Given the description of an element on the screen output the (x, y) to click on. 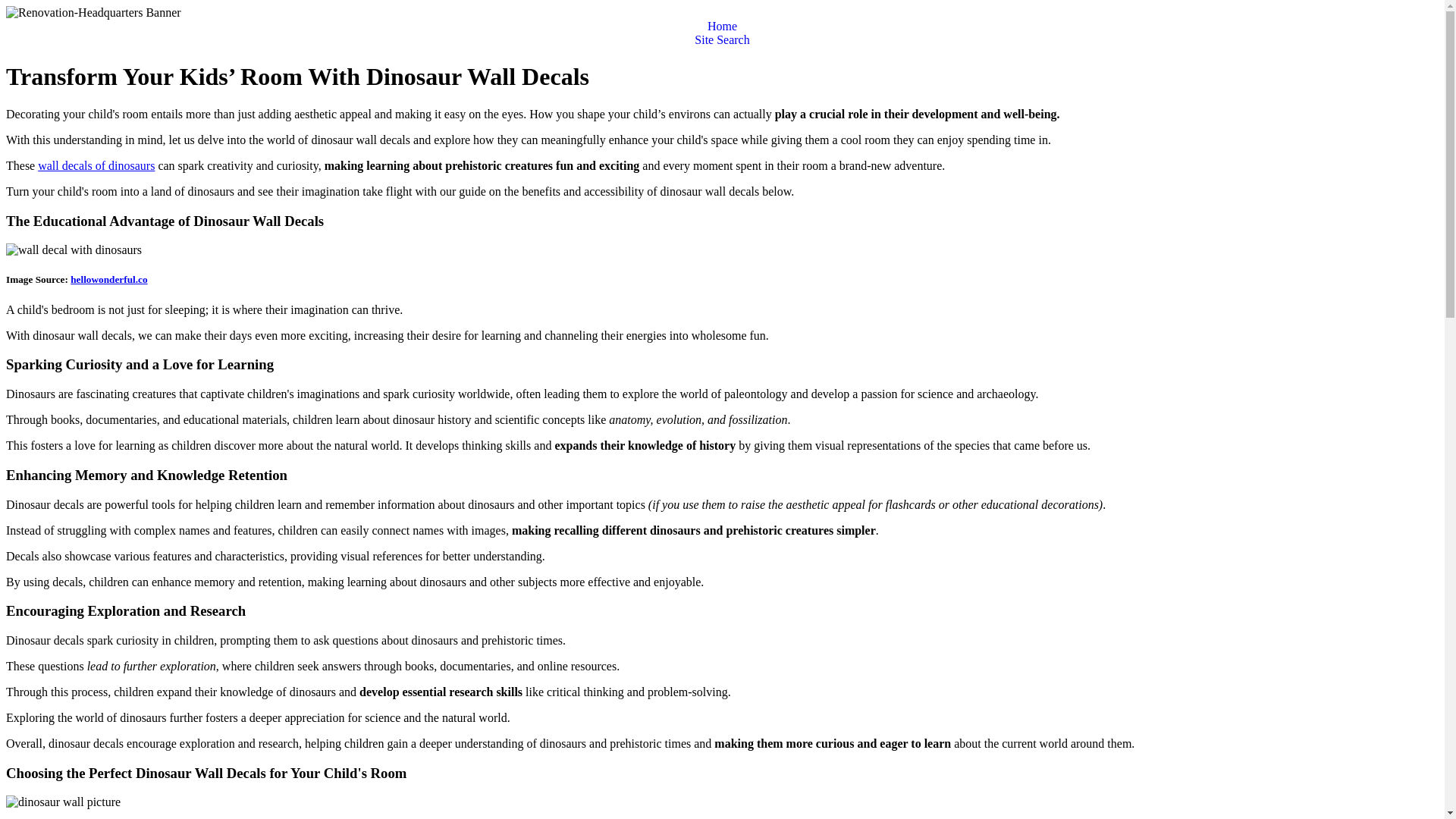
Renovation-Headquarters Banner (92, 12)
hellowonderful.co (108, 279)
wall decals of dinosaurs (95, 164)
Home (721, 25)
Site Search (721, 39)
